Given the description of an element on the screen output the (x, y) to click on. 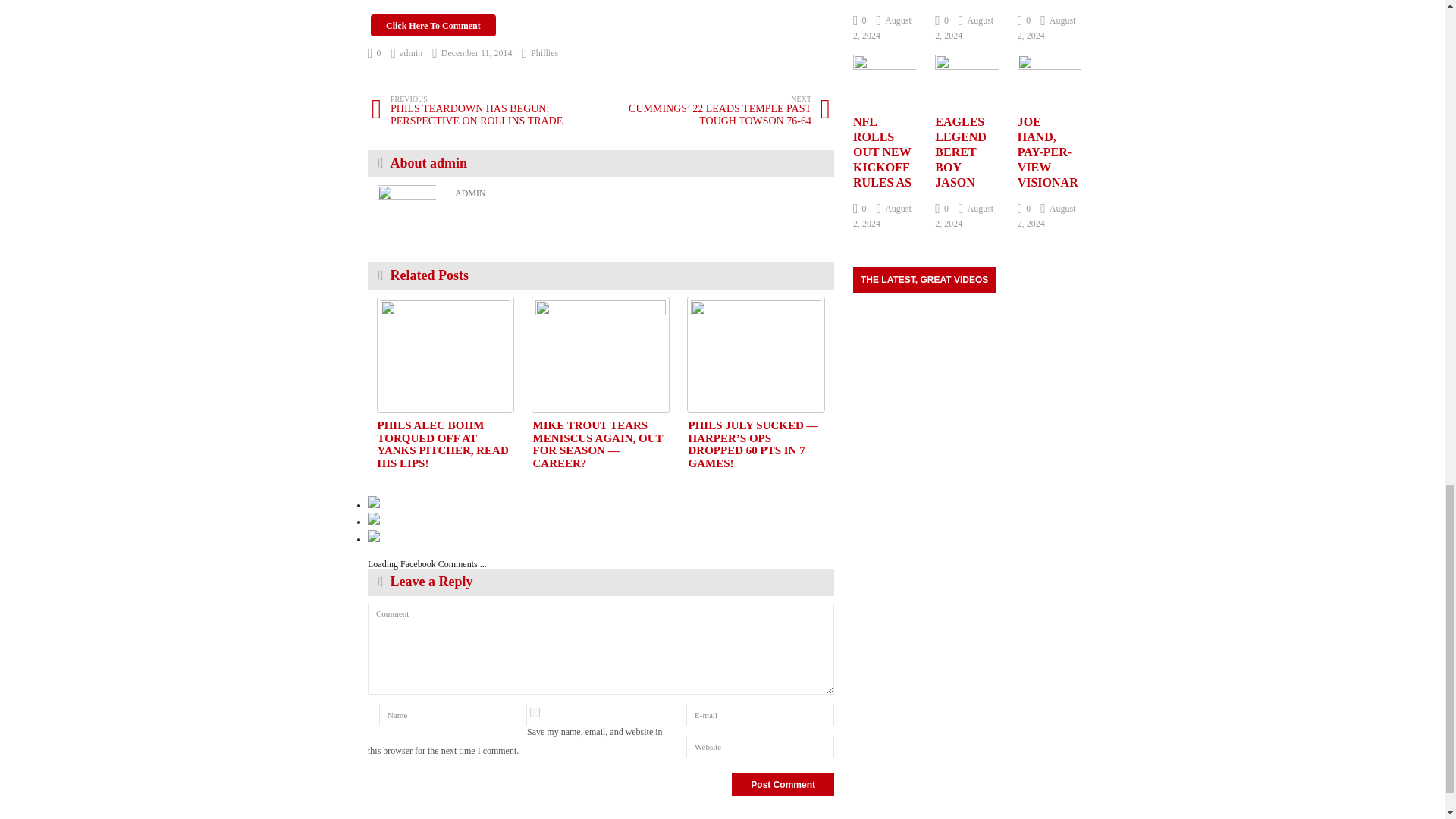
E-mail (759, 714)
PHILS ALEC BOHM TORQUED OFF AT YANKS PITCHER, READ HIS LIPS! (445, 354)
December 11, 2014 (472, 52)
Website (759, 746)
0 (374, 52)
PHILS ALEC BOHM TORQUED OFF AT YANKS PITCHER, READ HIS LIPS! (442, 444)
Click Here To Comment (433, 25)
Phillies (544, 52)
yes (534, 712)
ADMIN (470, 193)
Posts by admin (407, 52)
Post Comment (783, 784)
Name (452, 714)
admin (407, 52)
